Given the description of an element on the screen output the (x, y) to click on. 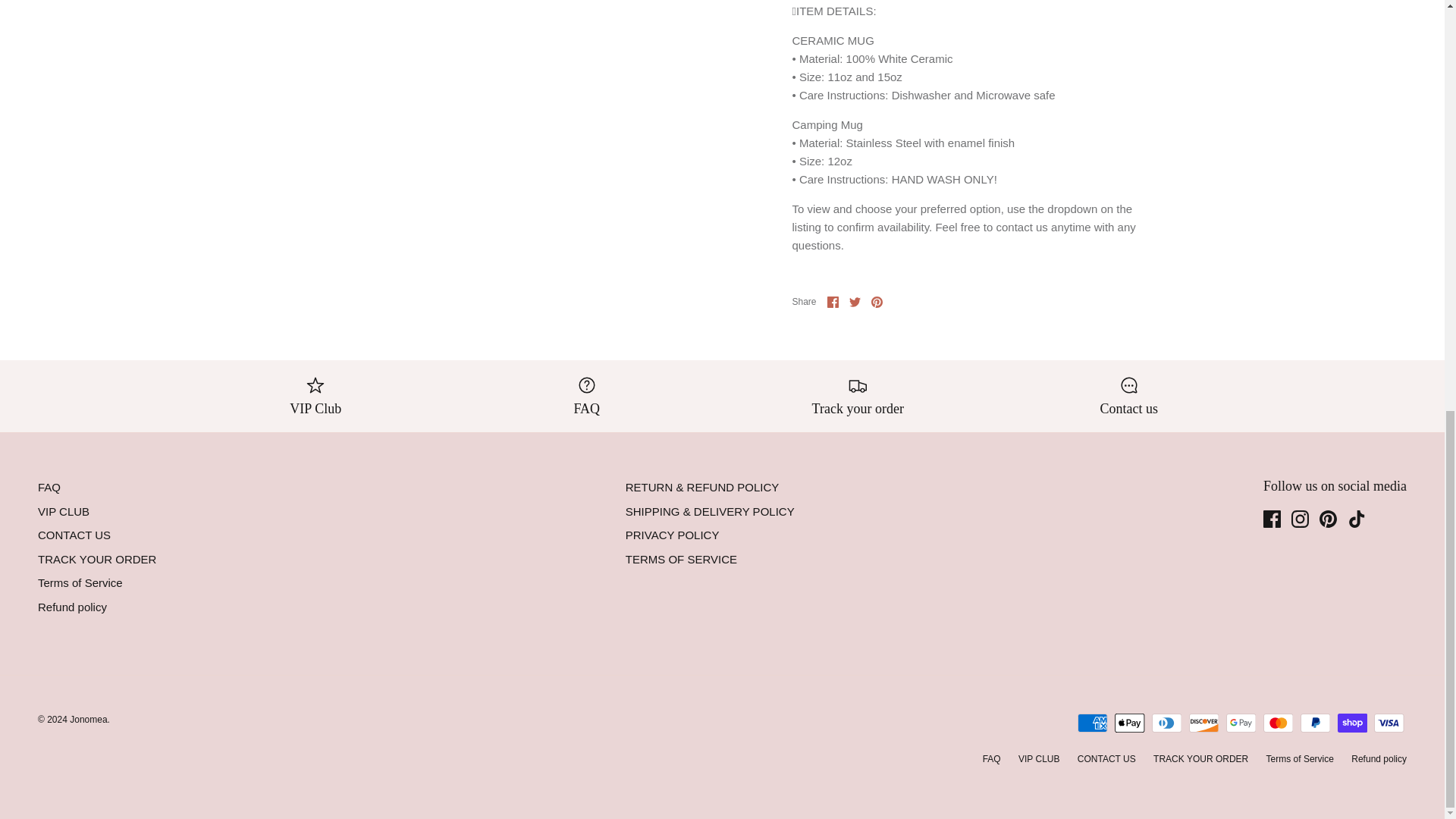
Pinterest (1327, 518)
Instagram (1299, 518)
Pinterest (876, 301)
Facebook (1272, 518)
Twitter (854, 301)
Facebook (832, 301)
